Given the description of an element on the screen output the (x, y) to click on. 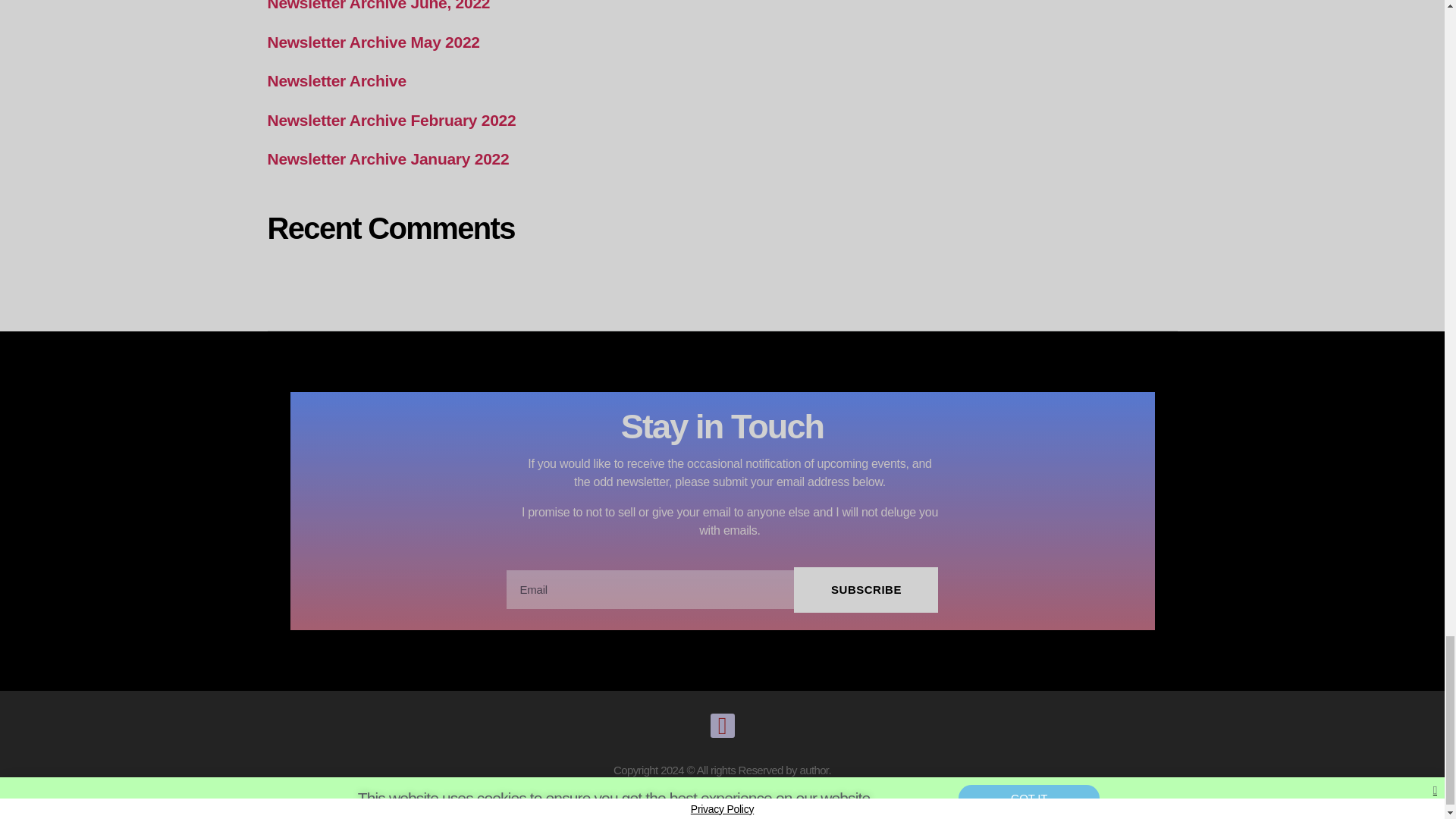
Newsletter Archive June, 2022 (377, 5)
Newsletter Archive May 2022 (372, 41)
Newsletter Archive January 2022 (387, 158)
SUBSCRIBE (865, 589)
Newsletter Archive (336, 80)
Newsletter Archive February 2022 (390, 119)
Privacy Policy (722, 808)
